Given the description of an element on the screen output the (x, y) to click on. 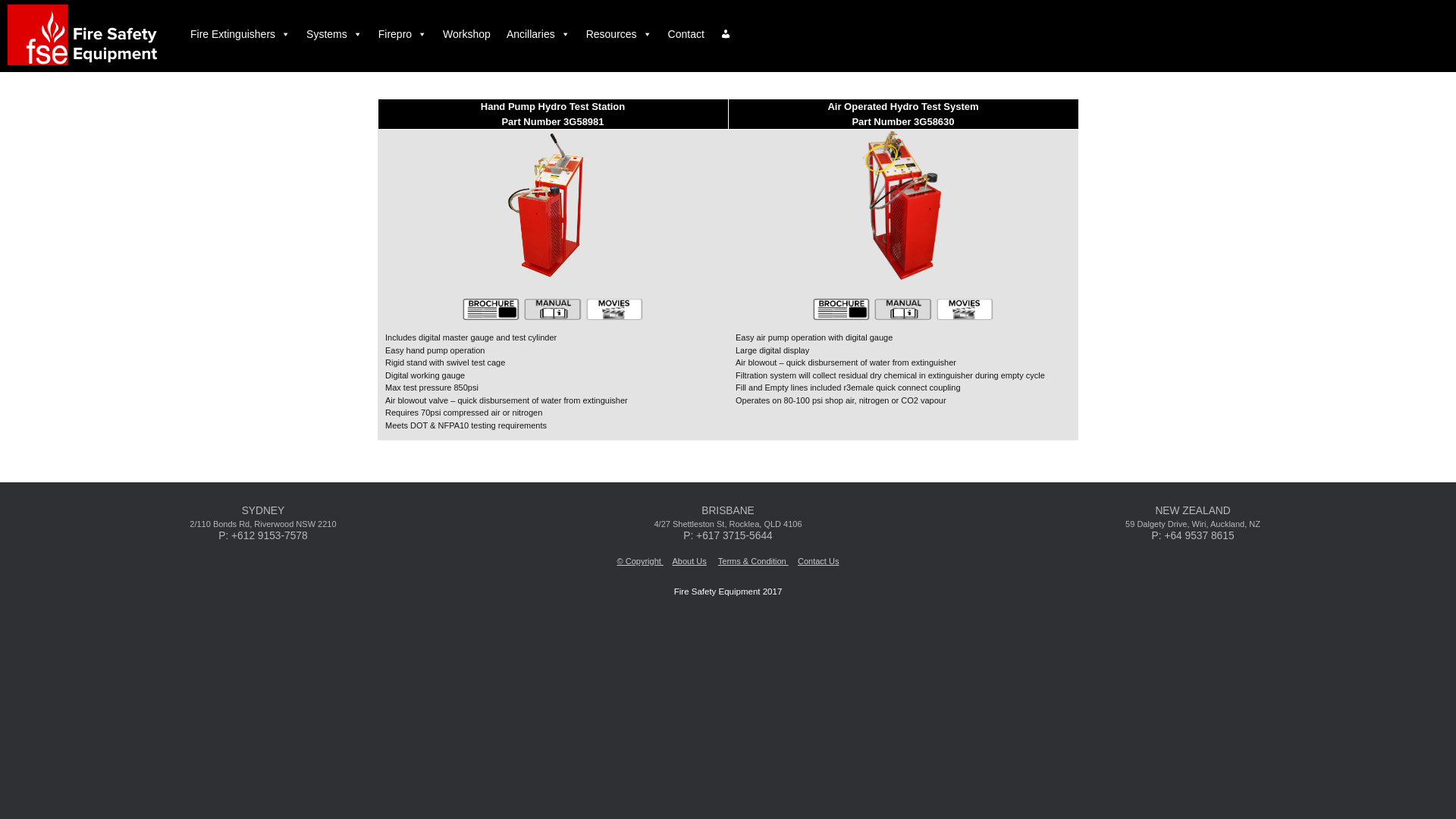
Skip to content Element type: text (0, 0)
Firepro Element type: text (402, 33)
Ancillaries Element type: text (537, 33)
Terms & Condition Element type: text (753, 560)
Fire Extinguishers Element type: text (240, 33)
Contact Element type: text (686, 33)
About Us Element type: text (688, 560)
Contact Us Element type: text (817, 560)
Workshop Element type: text (466, 33)
Resources Element type: text (618, 33)
Systems Element type: text (334, 33)
